Given the description of an element on the screen output the (x, y) to click on. 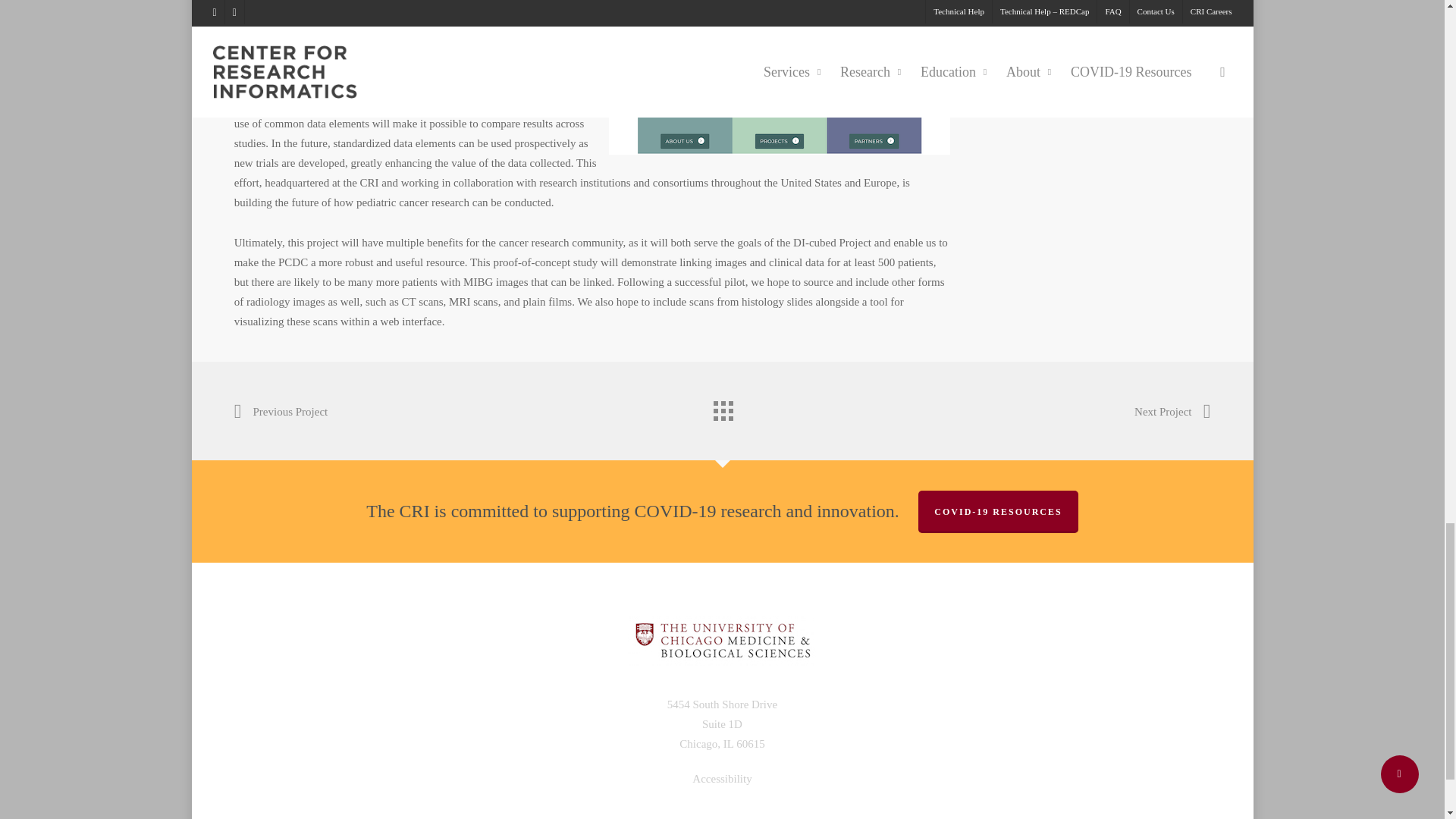
Back to all projects (721, 407)
